Given the description of an element on the screen output the (x, y) to click on. 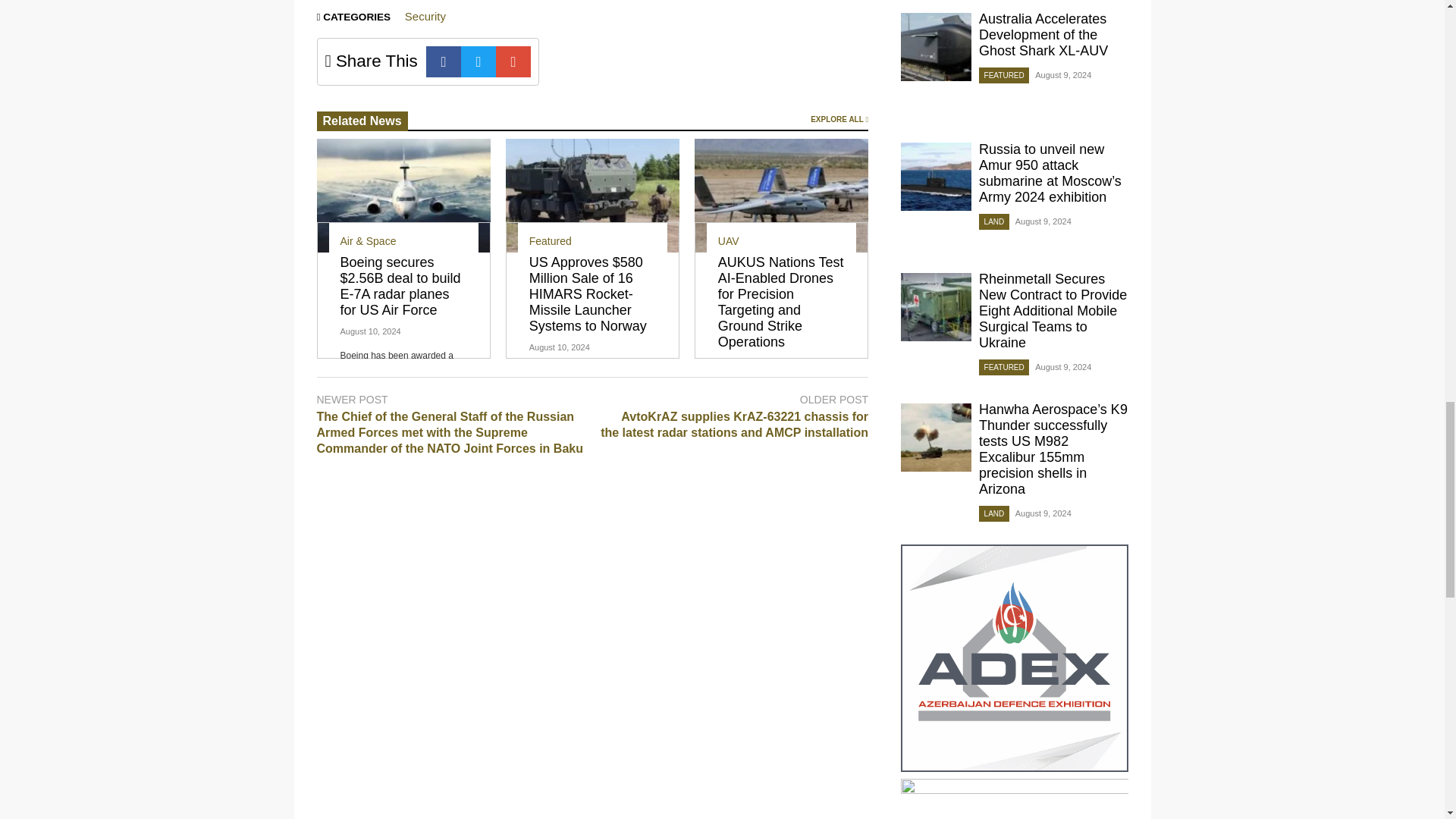
Twitter (478, 60)
Featured (550, 241)
Facebook (443, 60)
Google-plus (513, 60)
